Given the description of an element on the screen output the (x, y) to click on. 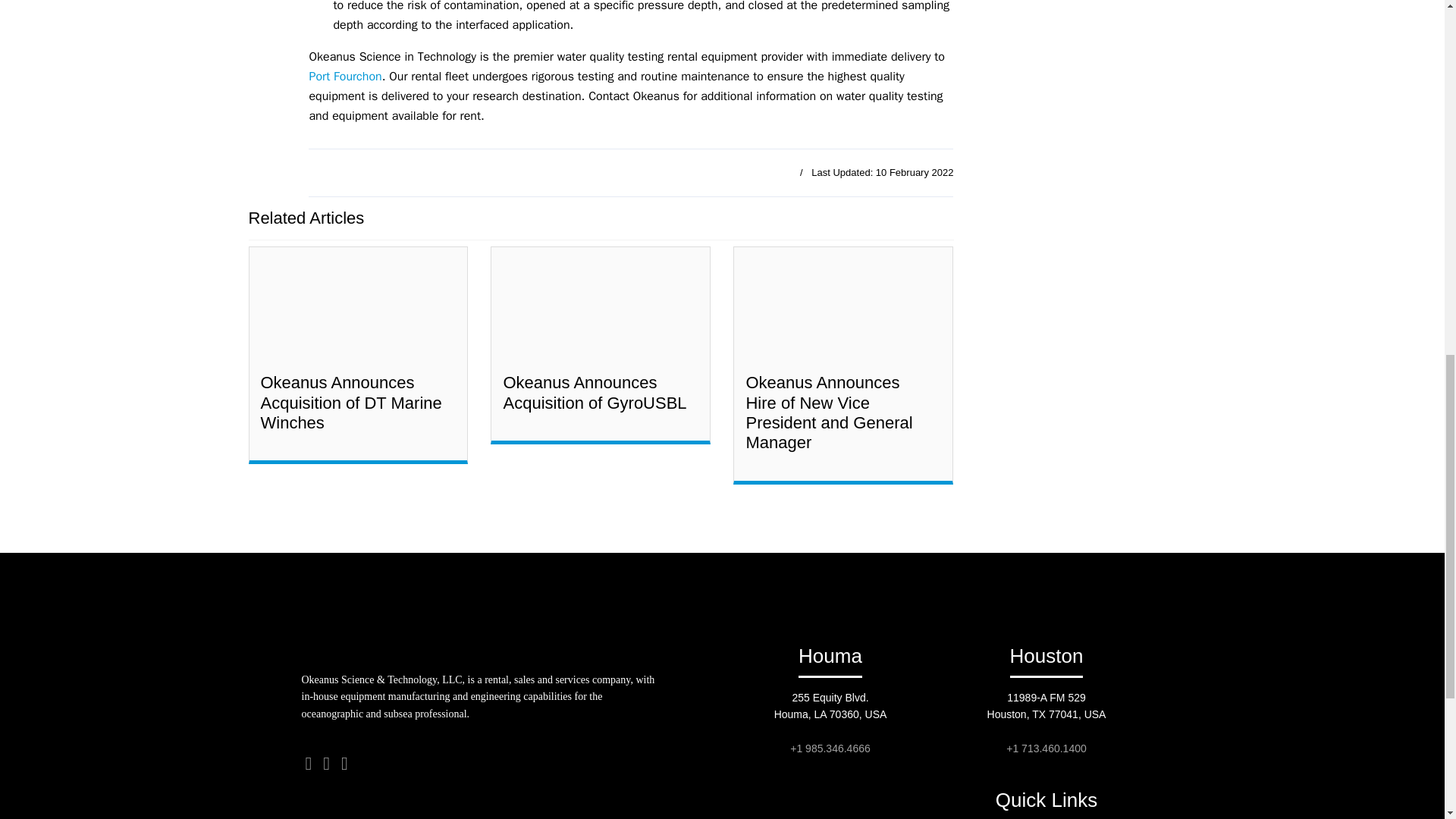
Okeanus Announces Acquisition of DT Marine Winches (351, 402)
Okeanus Announces Acquisition of GyroUSBL (593, 392)
Port Fourchon (344, 76)
